Given the description of an element on the screen output the (x, y) to click on. 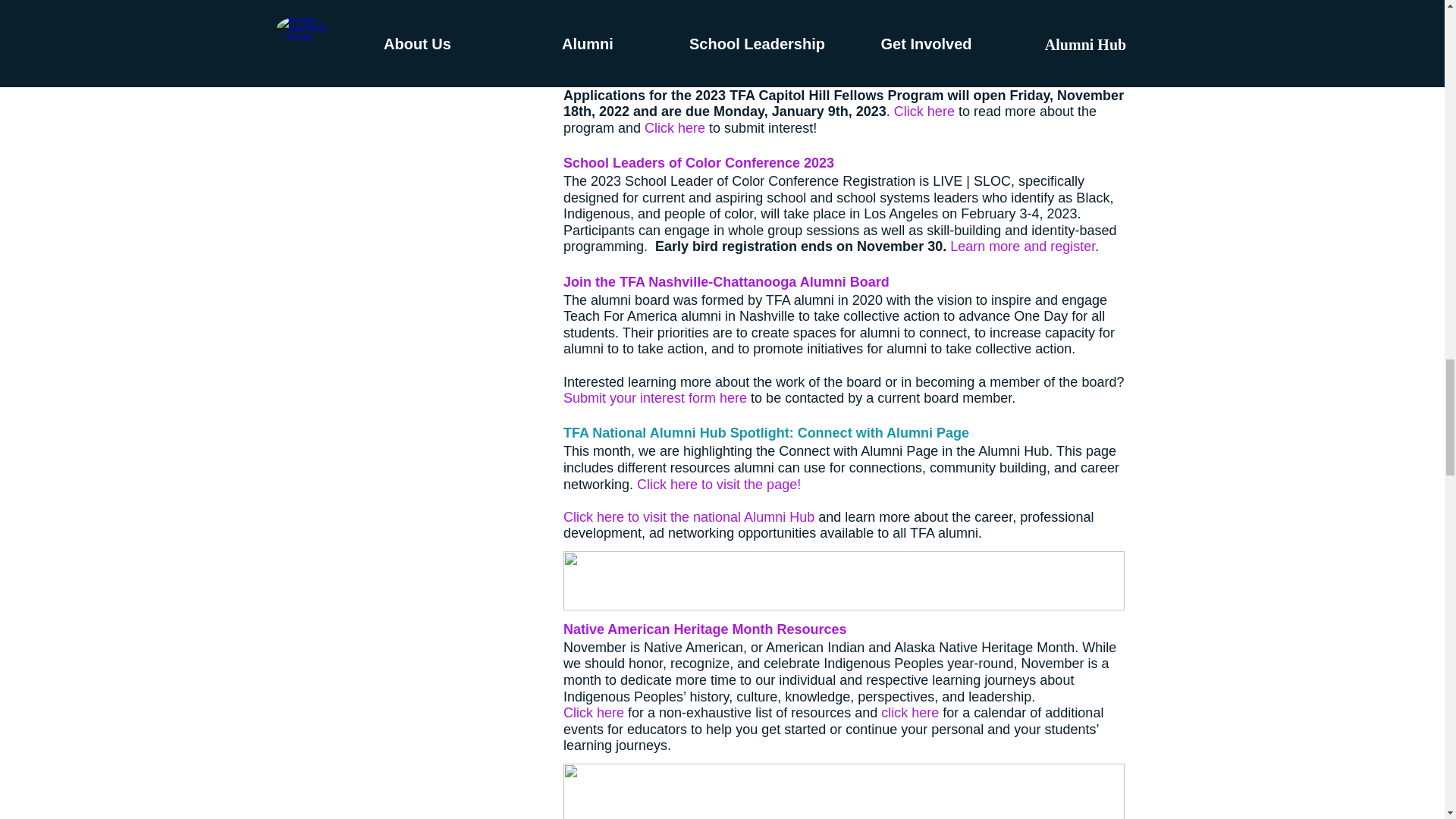
click here (909, 712)
Join the TFA Nashville-Chattanooga Alumni Board (725, 281)
Learn more and register (1022, 246)
Click here (592, 712)
ck here  (933, 111)
Native American Heritage Month Resources (703, 628)
Cli (900, 111)
TFA Capitol Hill Fellows Program (669, 1)
School Leaders of Color Conference 2023 (697, 162)
Click here to visit the national Alumni Hub (687, 516)
